Given the description of an element on the screen output the (x, y) to click on. 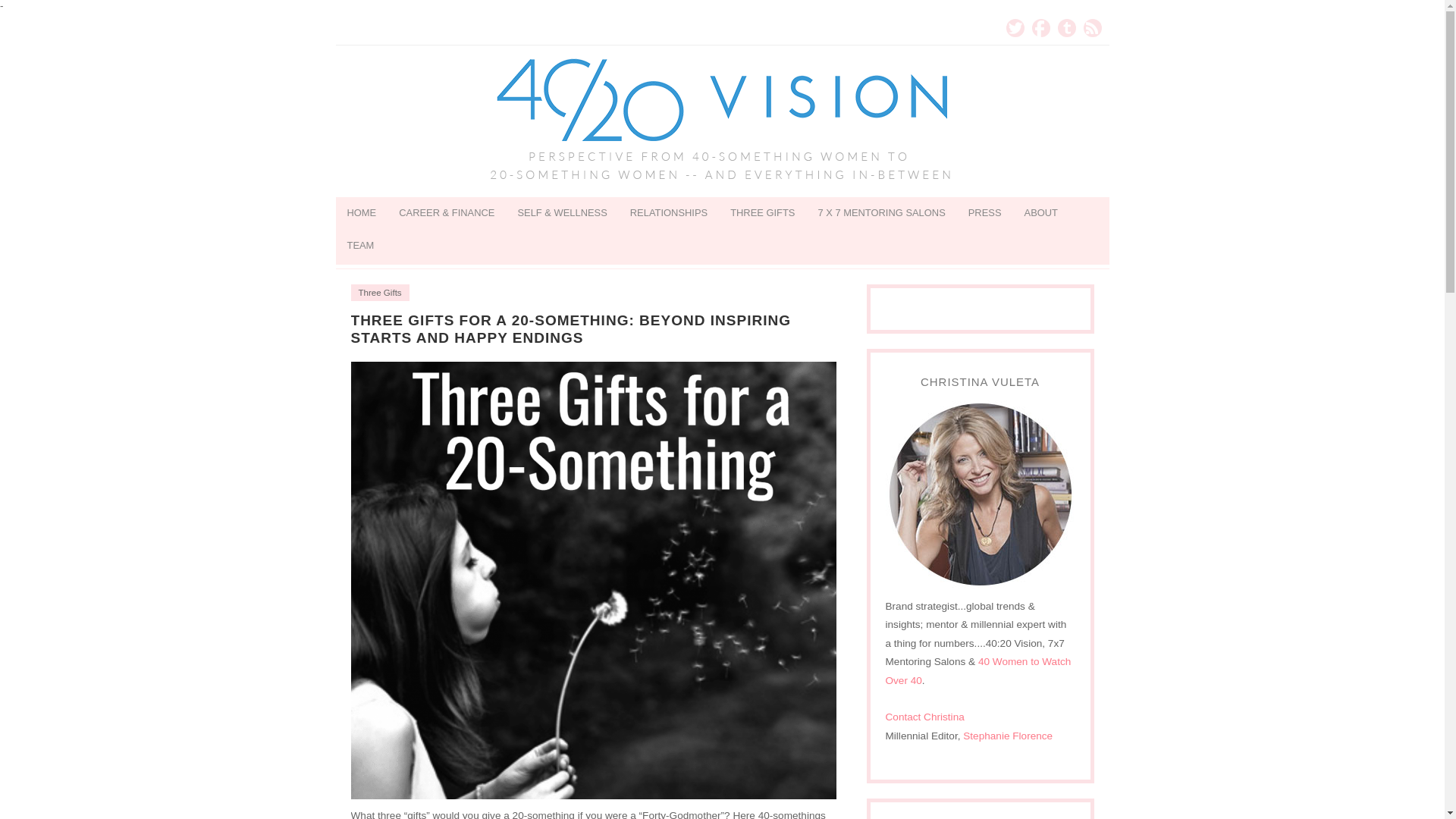
PRESS (984, 213)
RSS Feed (1091, 27)
Twitter (1014, 27)
RELATIONSHIPS (668, 213)
Tumblr (1066, 27)
7 X 7 MENTORING SALONS (881, 213)
TEAM (359, 246)
THREE GIFTS (762, 213)
Facebook (1039, 27)
Three Gifts (379, 292)
ABOUT (1040, 213)
HOME (360, 213)
40:20 Vision (721, 121)
